Given the description of an element on the screen output the (x, y) to click on. 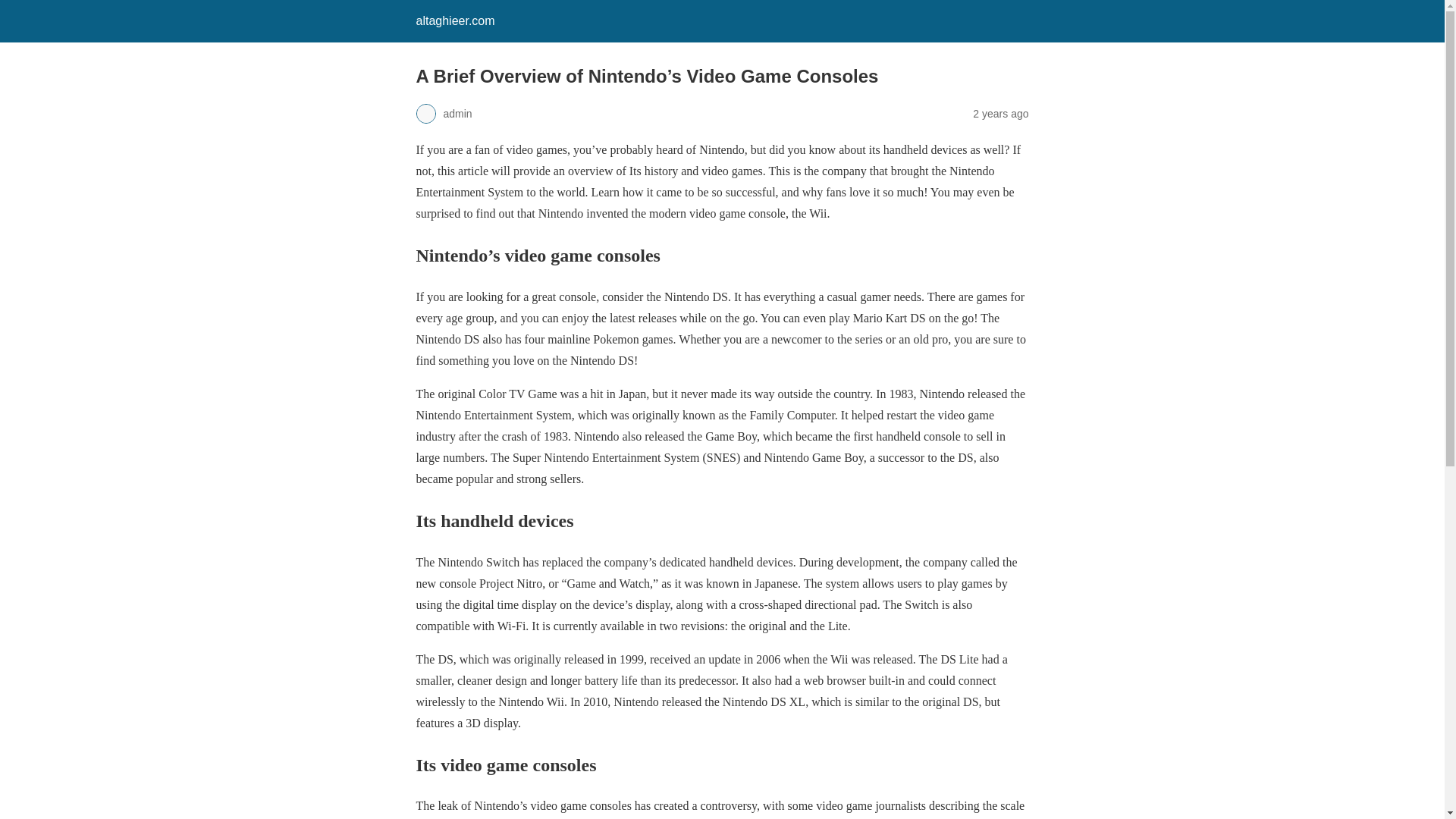
altaghieer.com (454, 20)
